Given the description of an element on the screen output the (x, y) to click on. 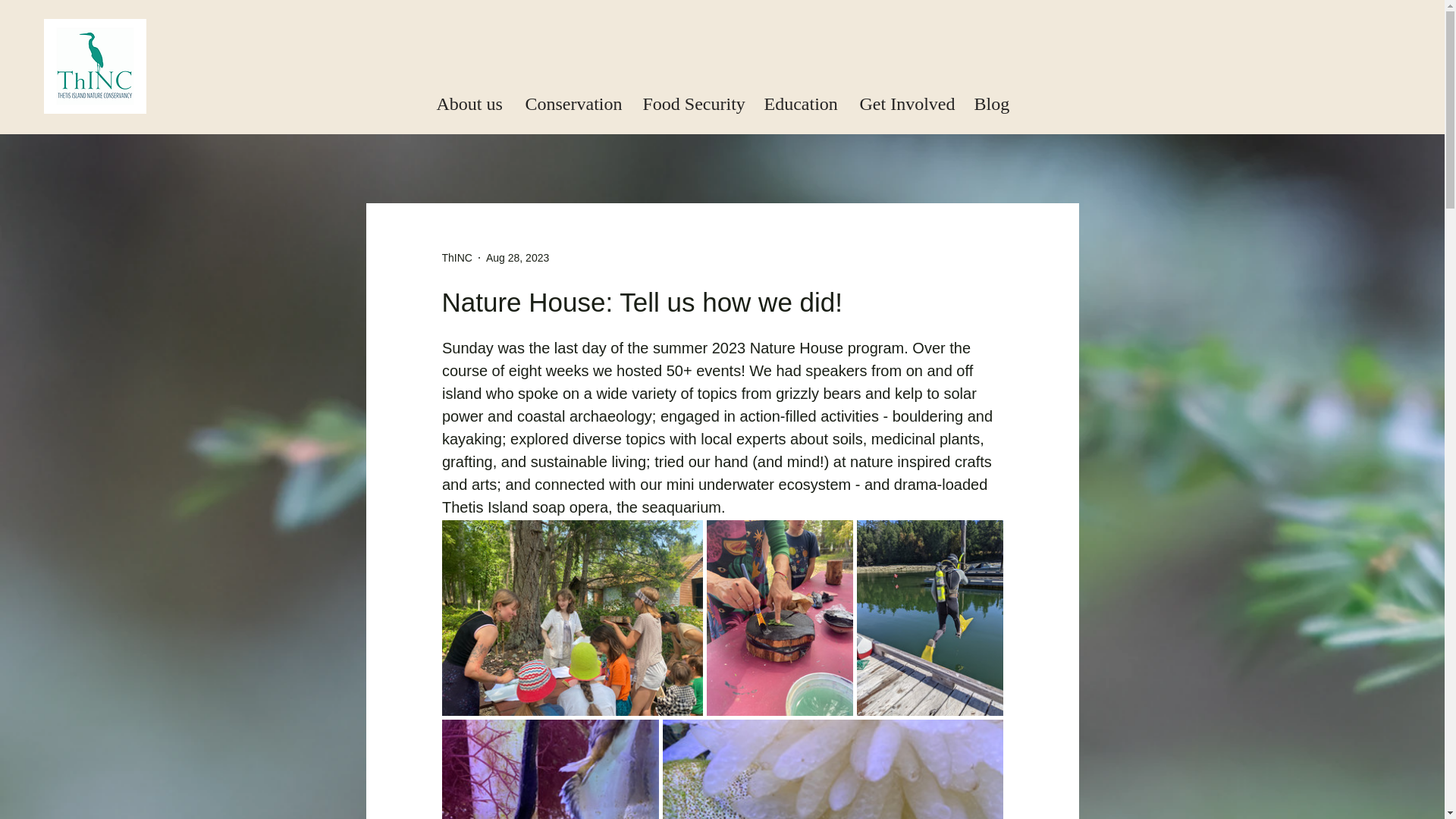
Food Security (691, 103)
ThINC (456, 258)
Aug 28, 2023 (517, 257)
About us (468, 103)
Conservation (571, 103)
Blog (988, 103)
Get Involved (904, 103)
Education (799, 103)
